Given the description of an element on the screen output the (x, y) to click on. 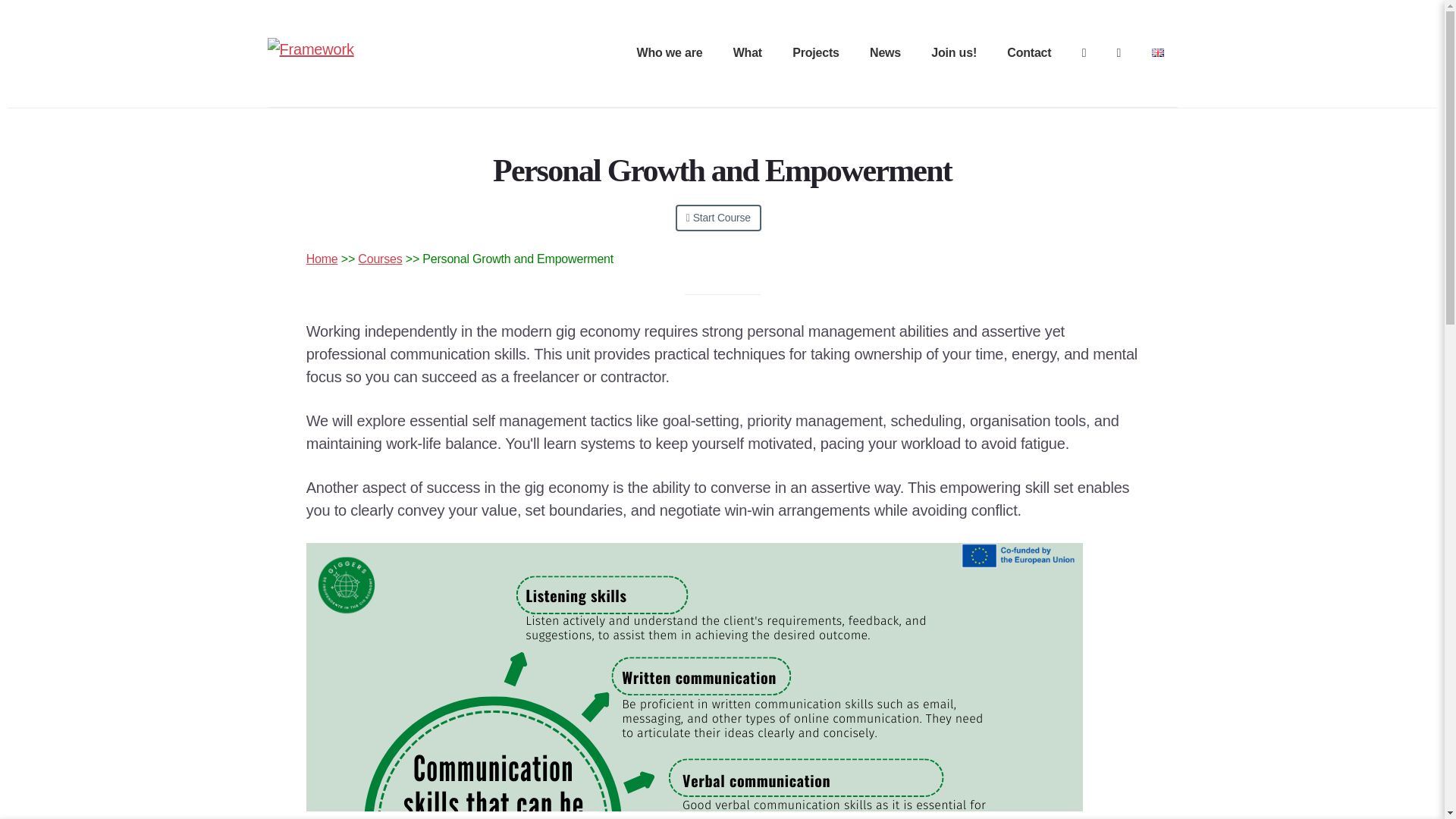
Contact (1029, 54)
What (747, 54)
Who we are (669, 54)
Projects (816, 54)
Home (321, 258)
News (885, 54)
Join us! (953, 54)
Start Course (718, 217)
Courses (379, 258)
